Given the description of an element on the screen output the (x, y) to click on. 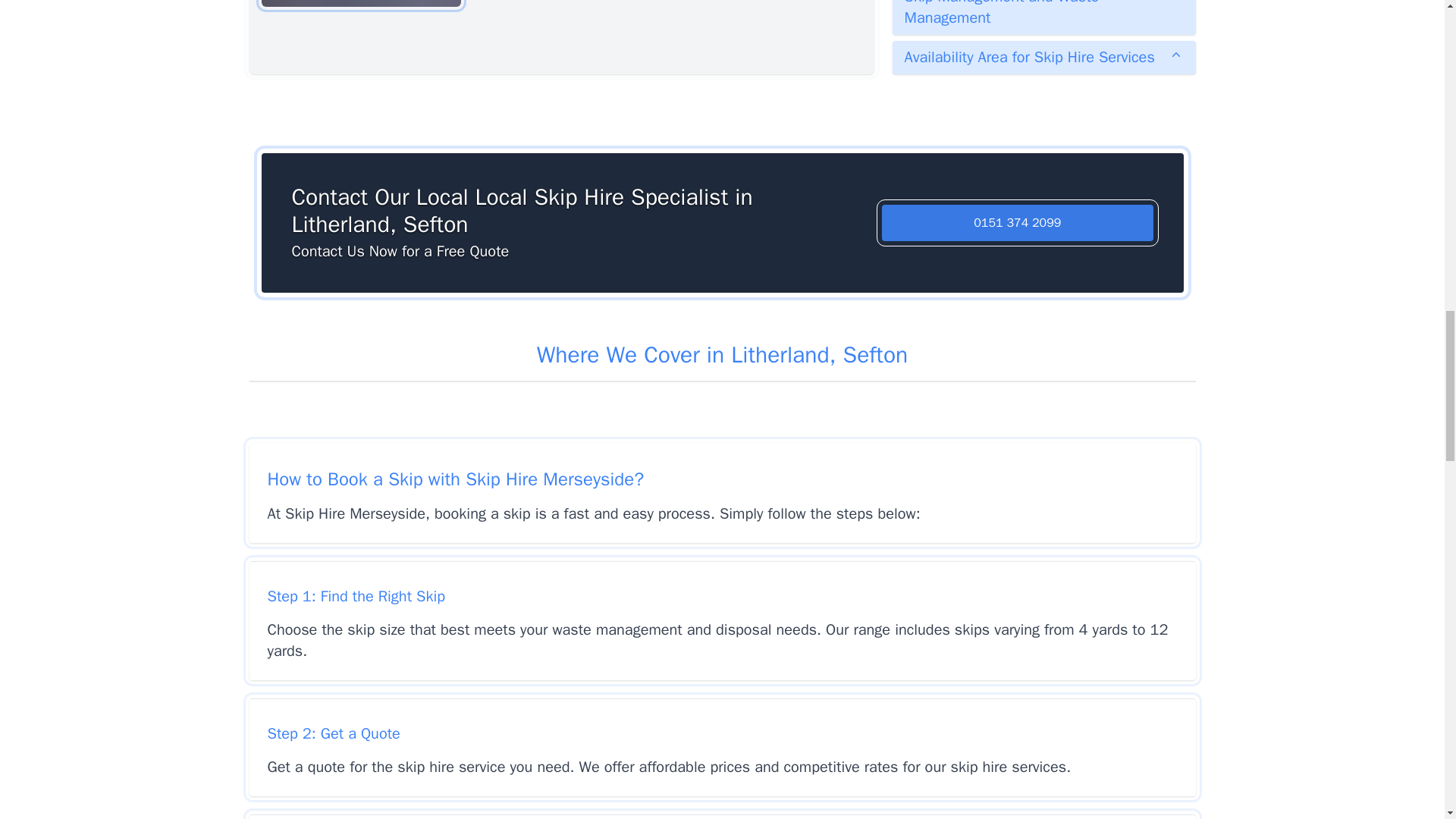
Availability Area for Skip Hire Services (1043, 57)
0151 374 2099 (1017, 222)
Skip Management and Waste Management (1043, 17)
